Given the description of an element on the screen output the (x, y) to click on. 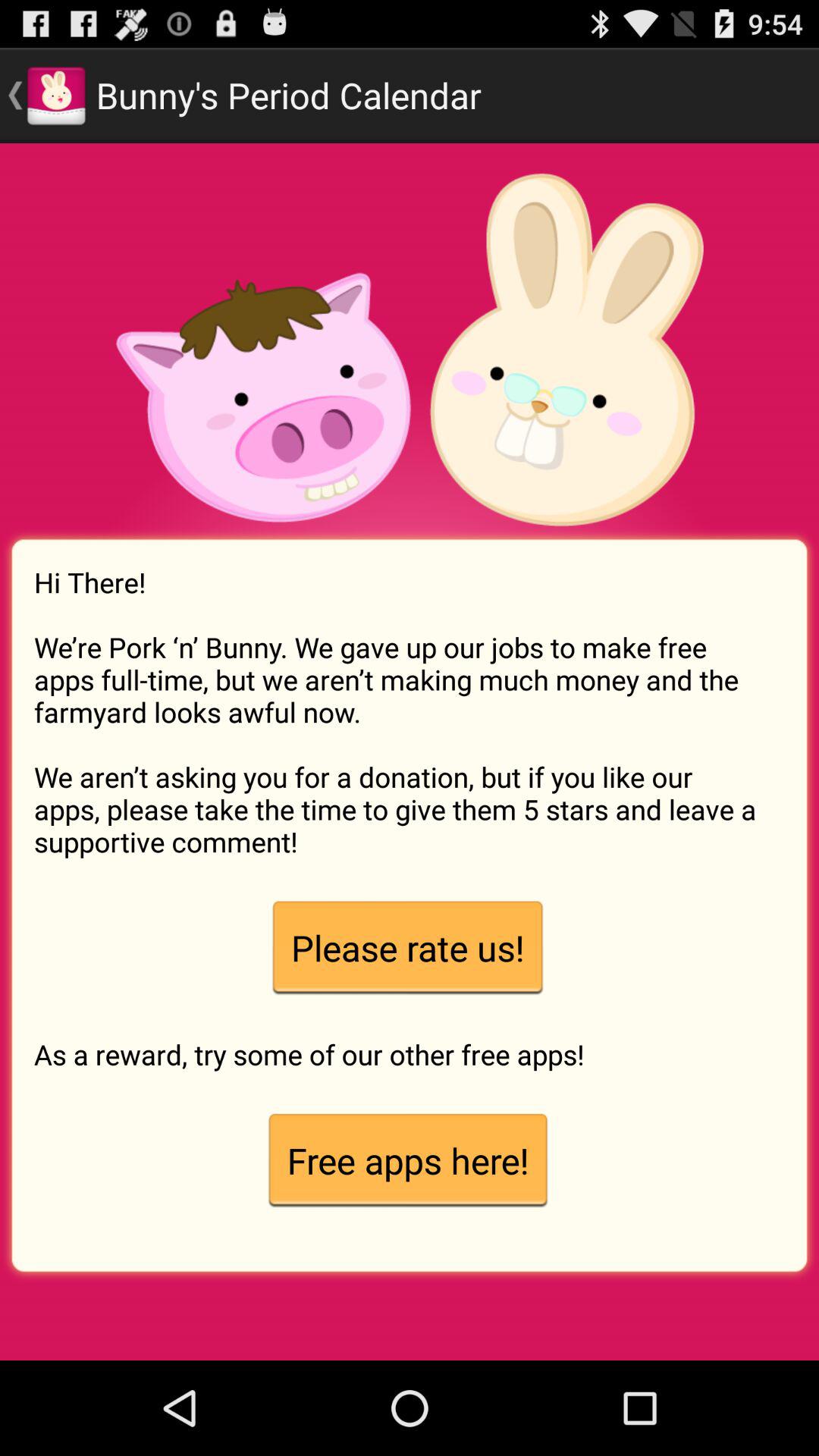
launch please rate us! item (407, 947)
